Given the description of an element on the screen output the (x, y) to click on. 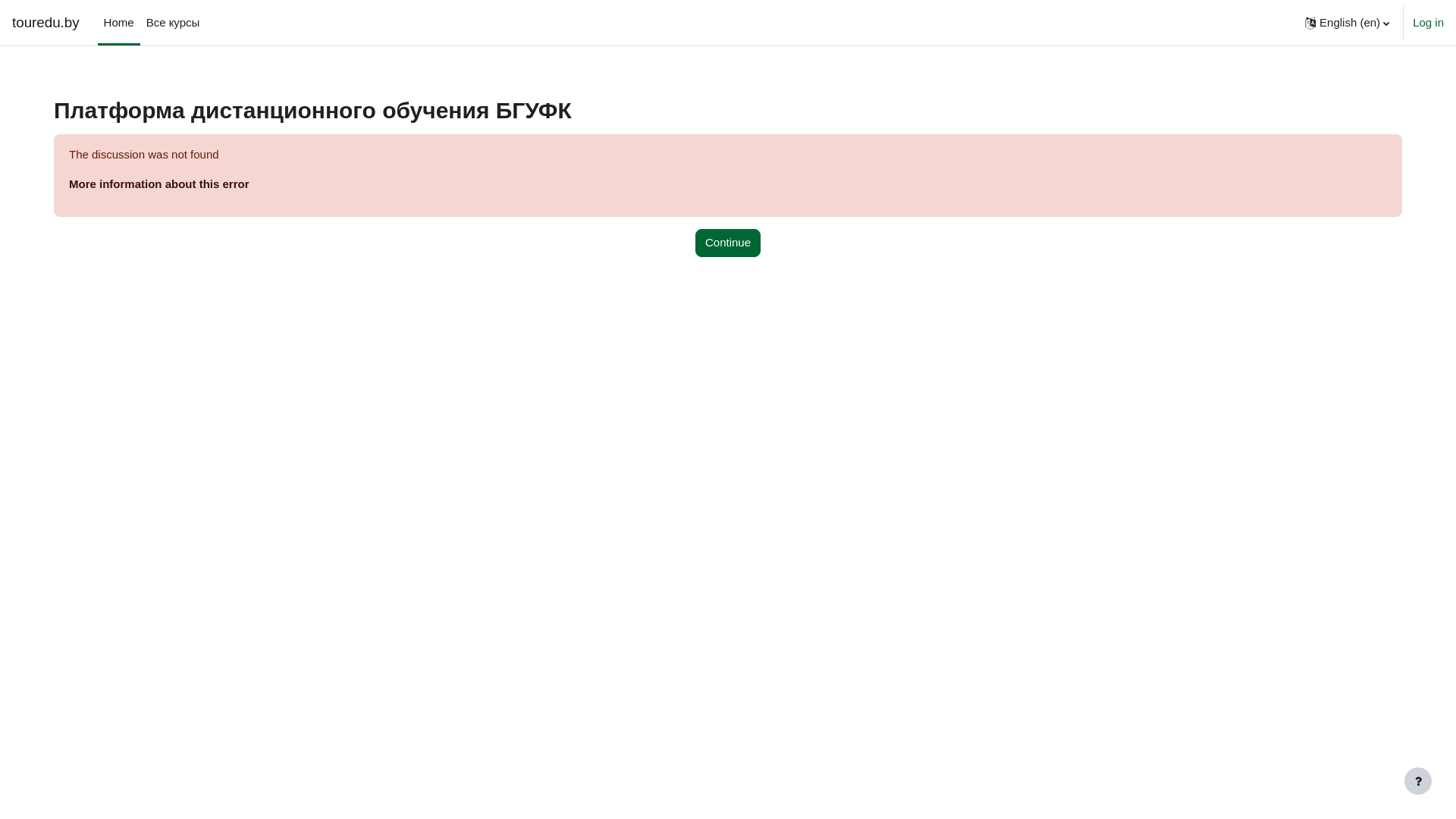
English (en) Element type: text (1346, 22)
touredu.by Element type: text (45, 22)
Log in Element type: text (1427, 22)
Continue Element type: text (727, 243)
Home Element type: text (118, 22)
More information about this error Element type: text (159, 183)
